Given the description of an element on the screen output the (x, y) to click on. 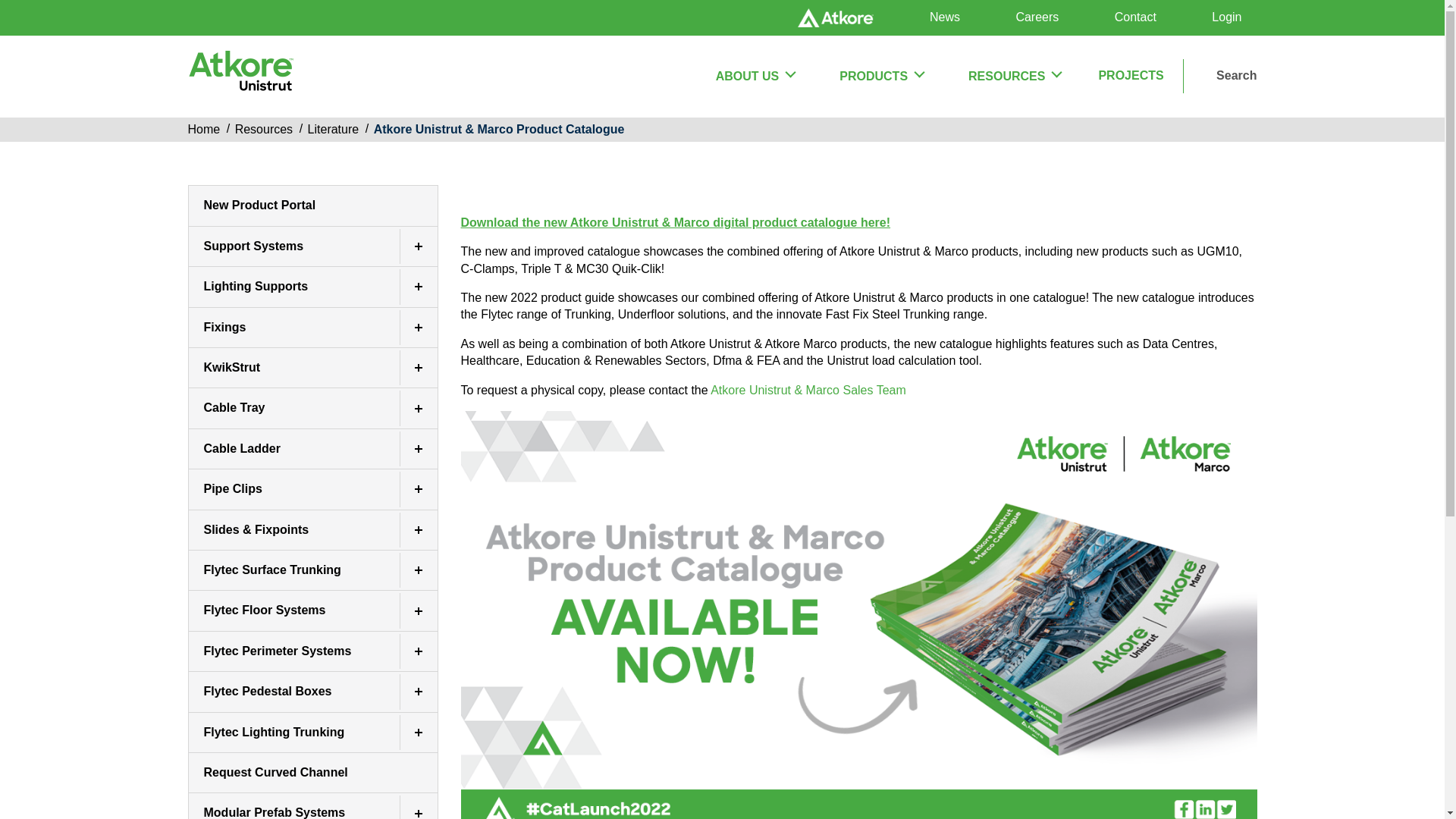
ABOUT US (754, 75)
PRODUCTS (880, 75)
Atkore Unistrut (240, 75)
